Given the description of an element on the screen output the (x, y) to click on. 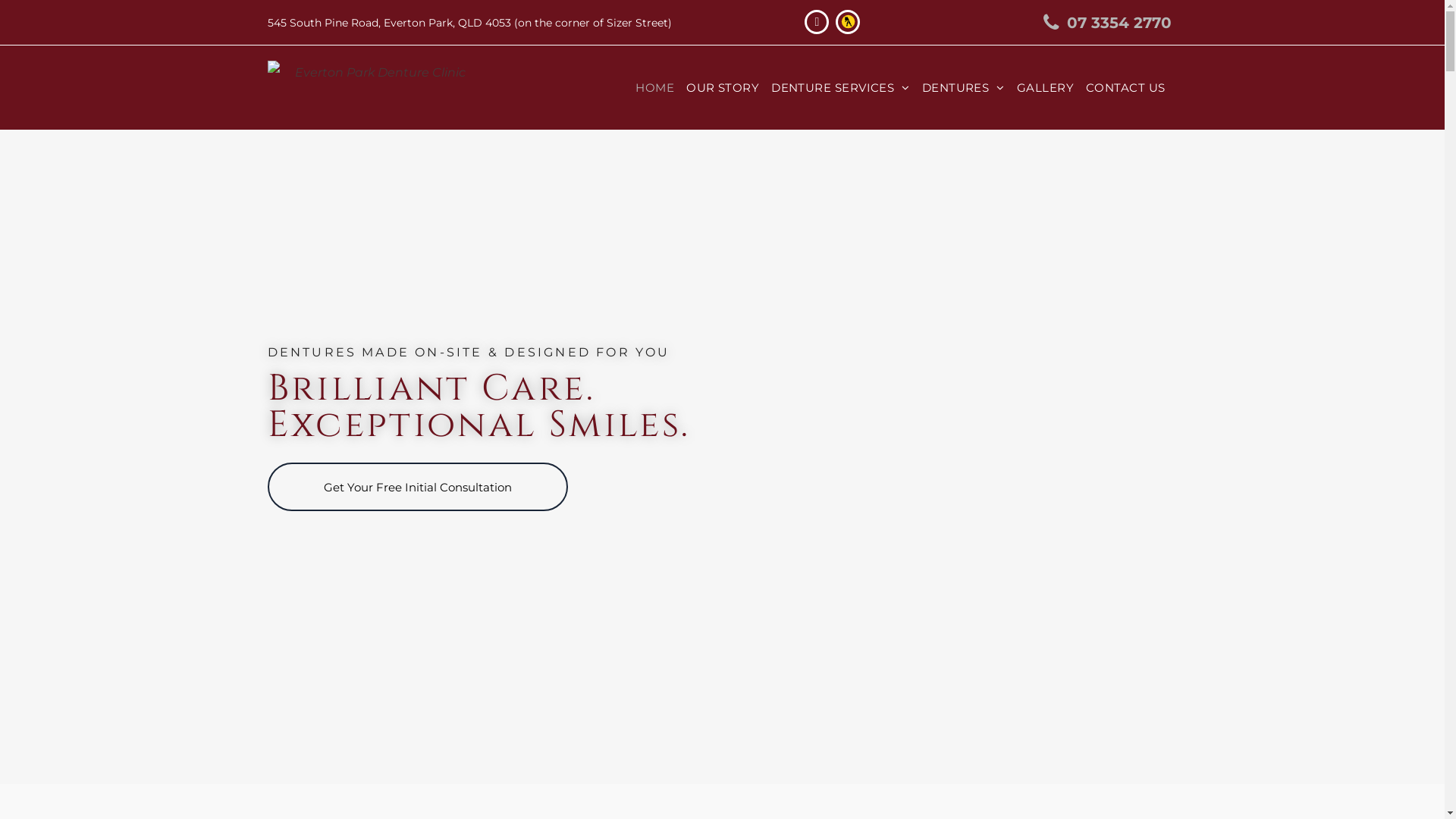
07 3354 2770 Element type: text (1098, 22)
GALLERY Element type: text (1044, 87)
DENTURE SERVICES Element type: text (840, 87)
Get Your Free Initial Consultation Element type: text (416, 486)
Everton Park Denture Clinic Element type: hover (373, 87)
545 South Pine Road, Everton Park, QLD 4053 Element type: text (388, 21)
OUR STORY Element type: text (722, 87)
HOME Element type: text (654, 87)
DENTURES Element type: text (963, 87)
CONTACT US Element type: text (1125, 87)
